Given the description of an element on the screen output the (x, y) to click on. 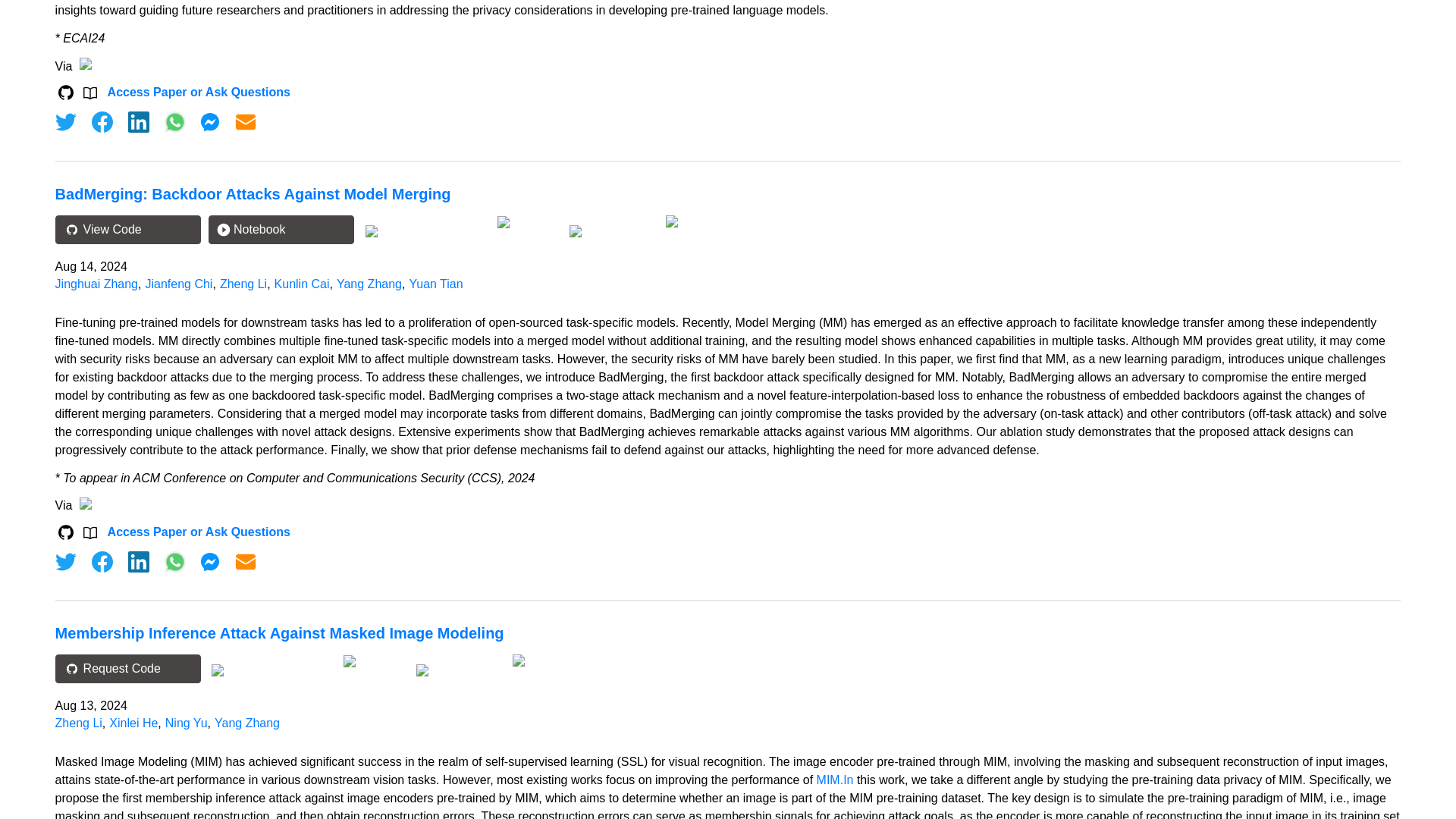
Contribute your code for this paper to the community (528, 222)
Share via Email (245, 121)
View code for similar papers (424, 231)
Share via Email (245, 561)
Bookmark this paper (612, 229)
Access Paper or Ask Questions (198, 92)
